Given the description of an element on the screen output the (x, y) to click on. 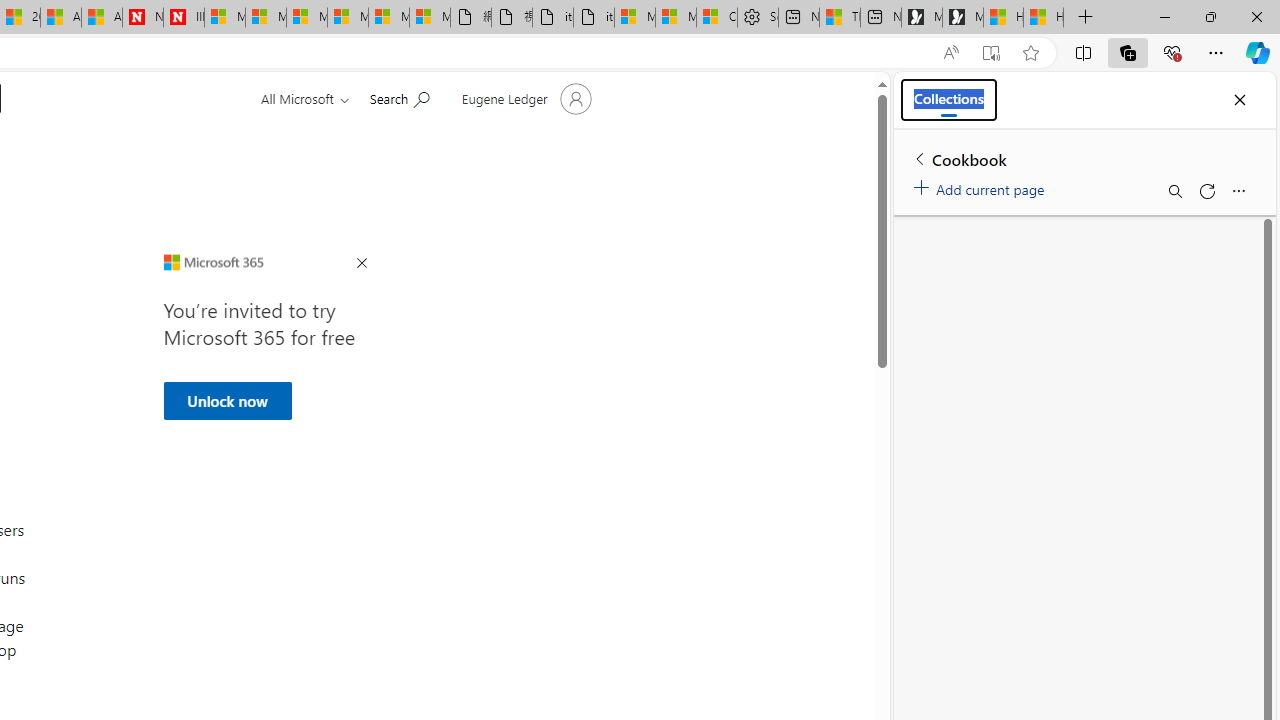
itconcepthk.com/projector_solutions.mp4 (593, 17)
Microsoft Start Gaming (963, 17)
Search for help (399, 97)
Illness news & latest pictures from Newsweek.com (183, 17)
Back to list of collections (920, 158)
